Given the description of an element on the screen output the (x, y) to click on. 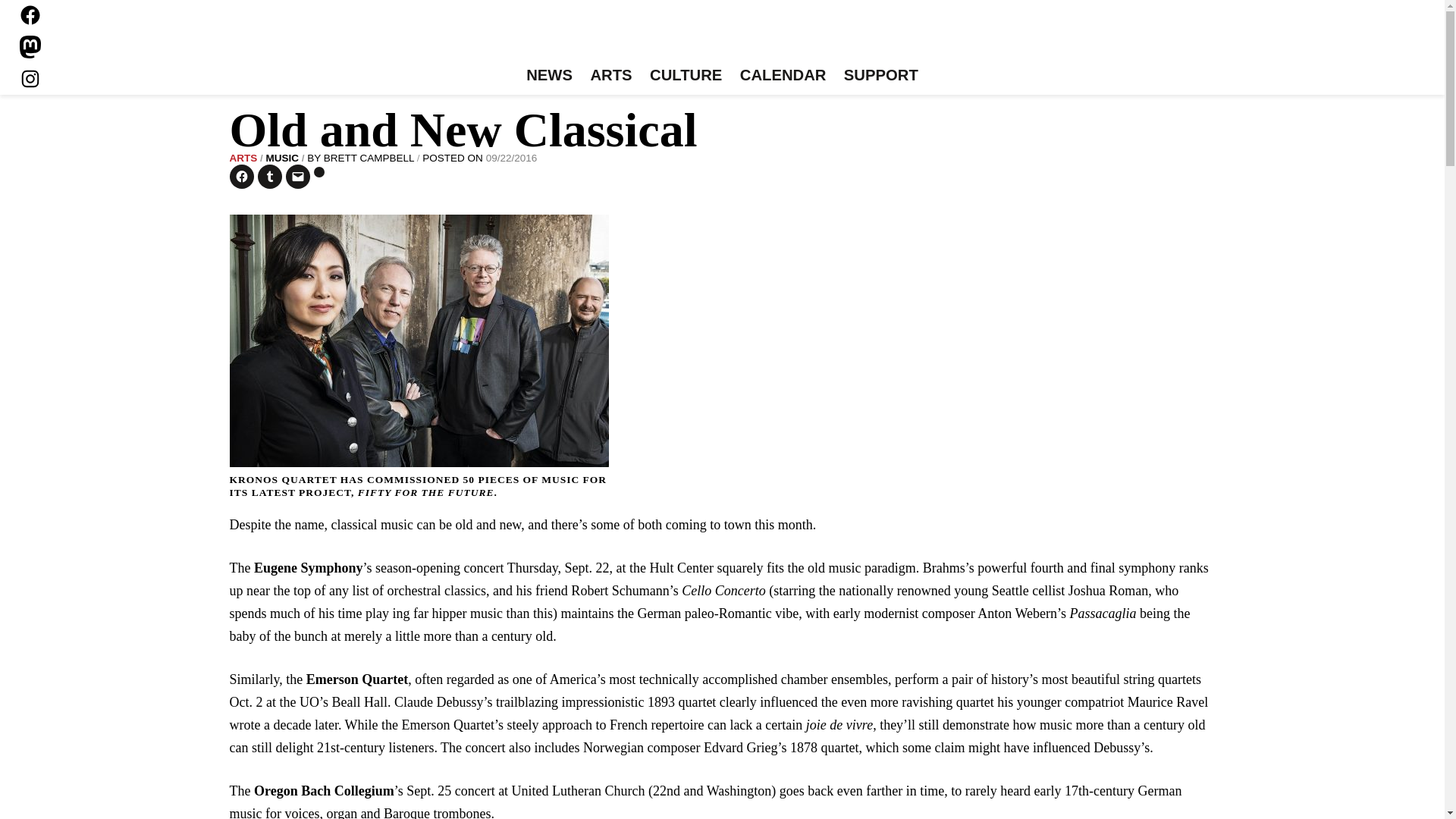
Click to print (319, 172)
Click to share on Facebook (240, 176)
Eugene Weekly (721, 37)
NEWS (548, 75)
Click to email a link to a friend (296, 176)
ARTS (611, 75)
Instagram (30, 78)
SUPPORT (880, 75)
CALENDAR (782, 75)
Facebook (30, 15)
Mastodon (30, 47)
Click to share on Tumblr (269, 176)
CULTURE (685, 75)
